Given the description of an element on the screen output the (x, y) to click on. 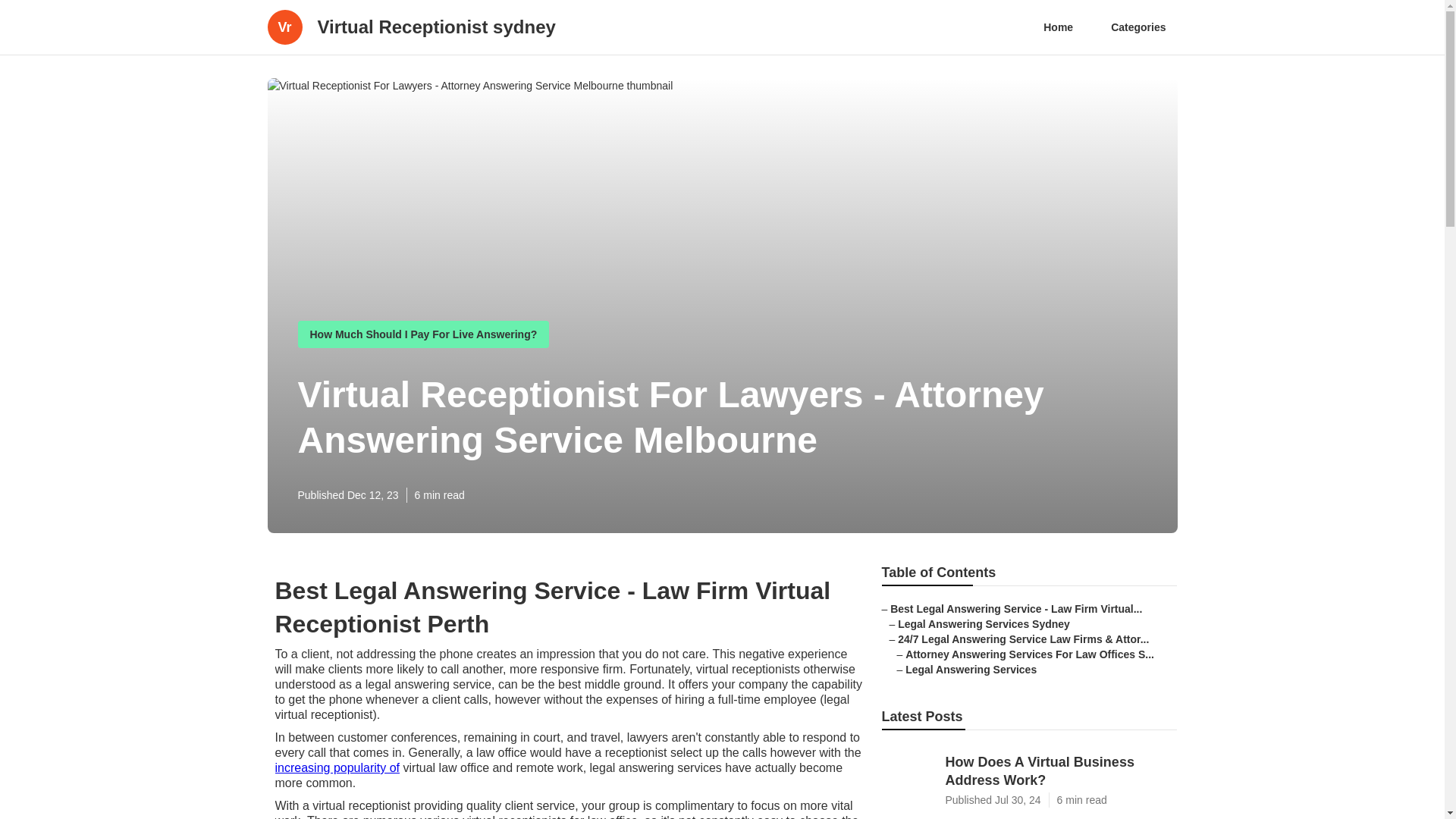
Best Legal Answering Service - Law Firm Virtual... (1015, 608)
Home (1058, 27)
increasing popularity of (336, 767)
How Much Should I Pay For Live Answering? (422, 334)
Legal Answering Services Sydney (984, 623)
Categories (1137, 27)
Legal Answering Services (970, 669)
Attorney Answering Services For Law Offices S... (1029, 654)
